Given the description of an element on the screen output the (x, y) to click on. 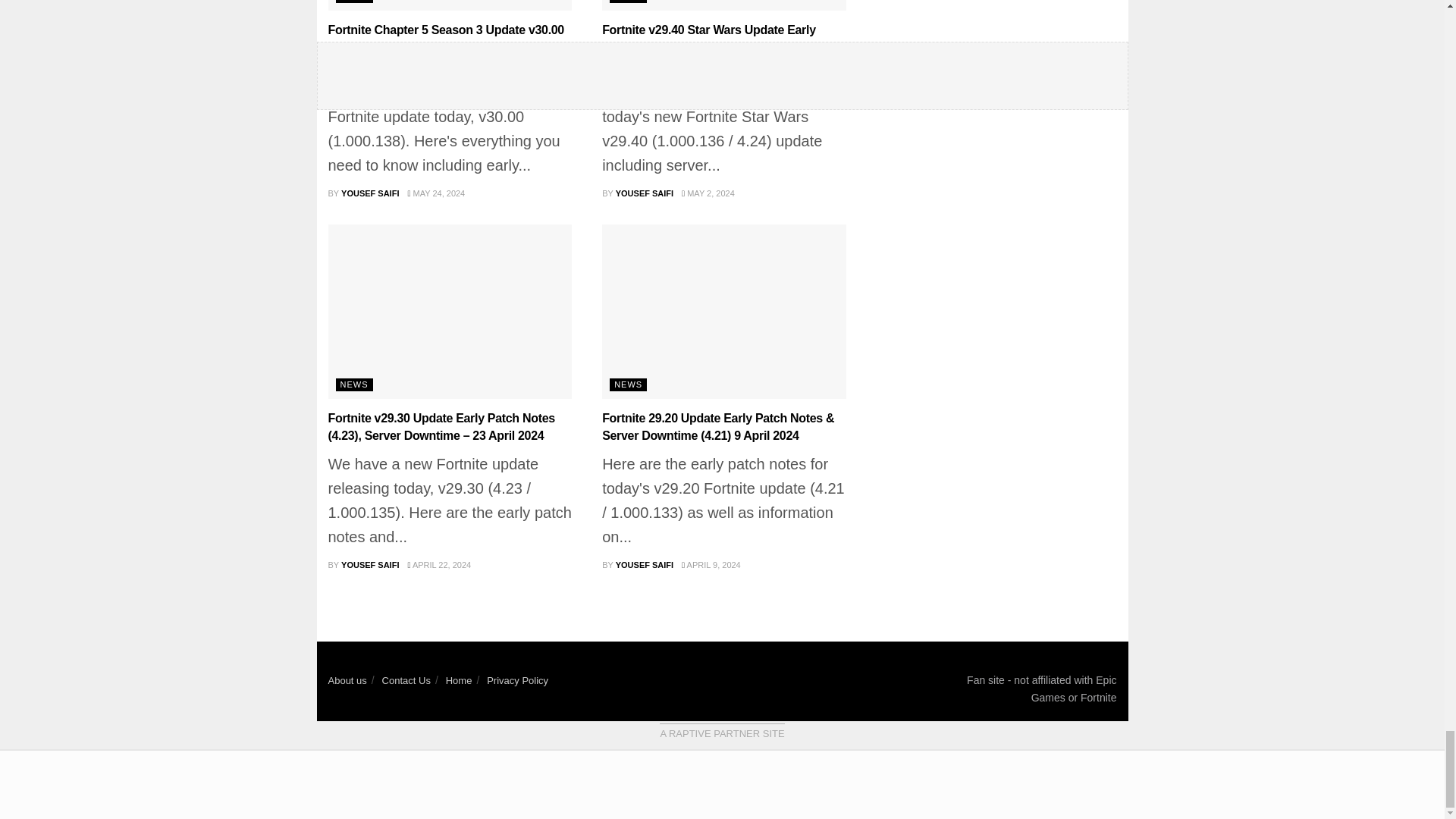
MAY 24, 2024 (435, 193)
YOUSEF SAIFI (369, 193)
YOUSEF SAIFI (643, 193)
NEWS (353, 1)
NEWS (628, 1)
